Given the description of an element on the screen output the (x, y) to click on. 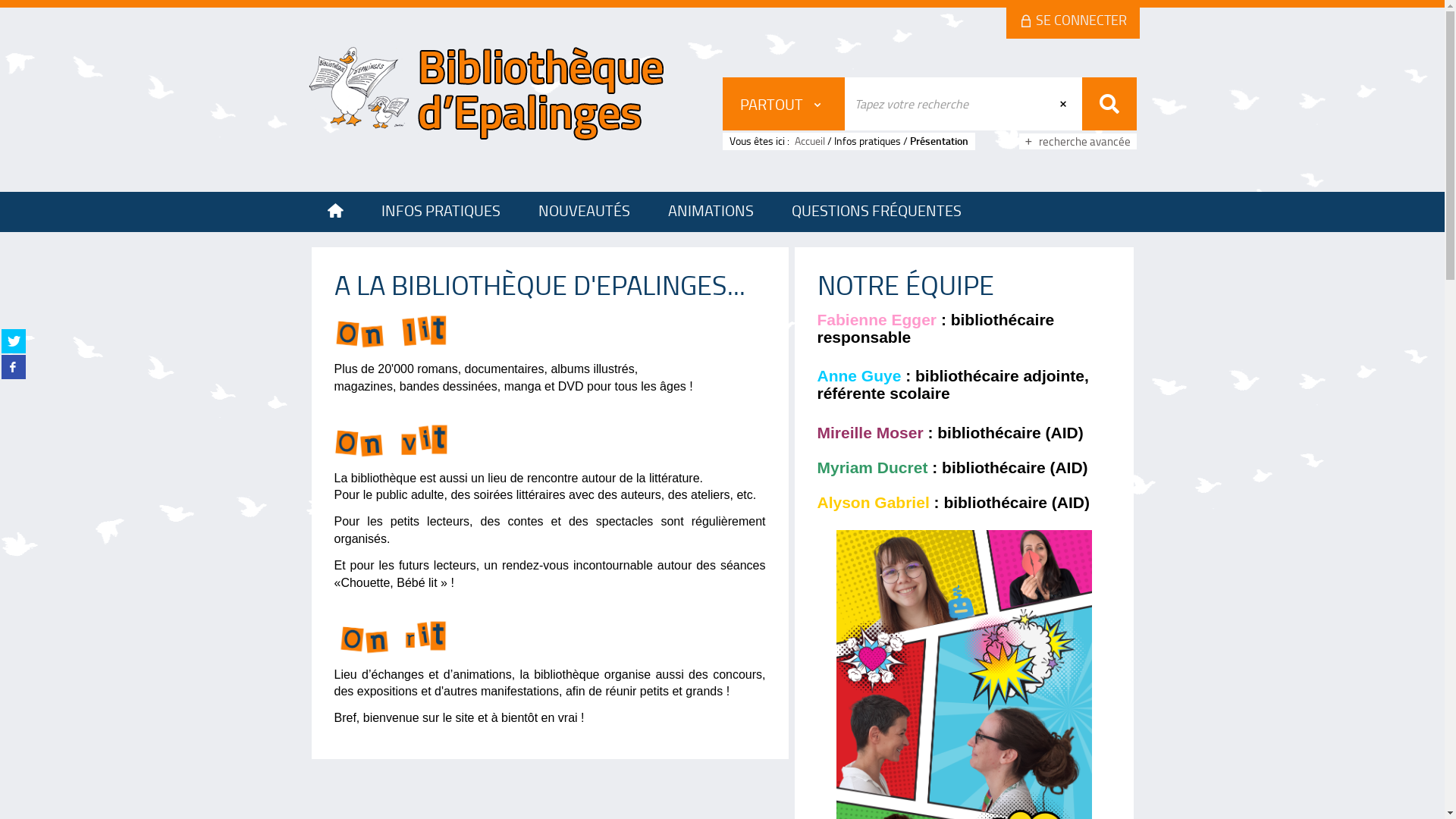
Effacer le champ de recherche Element type: hover (1064, 103)
ANIMATIONS Element type: text (710, 211)
Tapez votre recherche Element type: hover (945, 103)
Aller au menu Element type: text (304, 6)
SE CONNECTER Element type: text (1072, 22)
Accueil Element type: text (810, 140)
INFOS PRATIQUES Element type: text (440, 211)
PARTOUT Element type: text (782, 103)
